Given the description of an element on the screen output the (x, y) to click on. 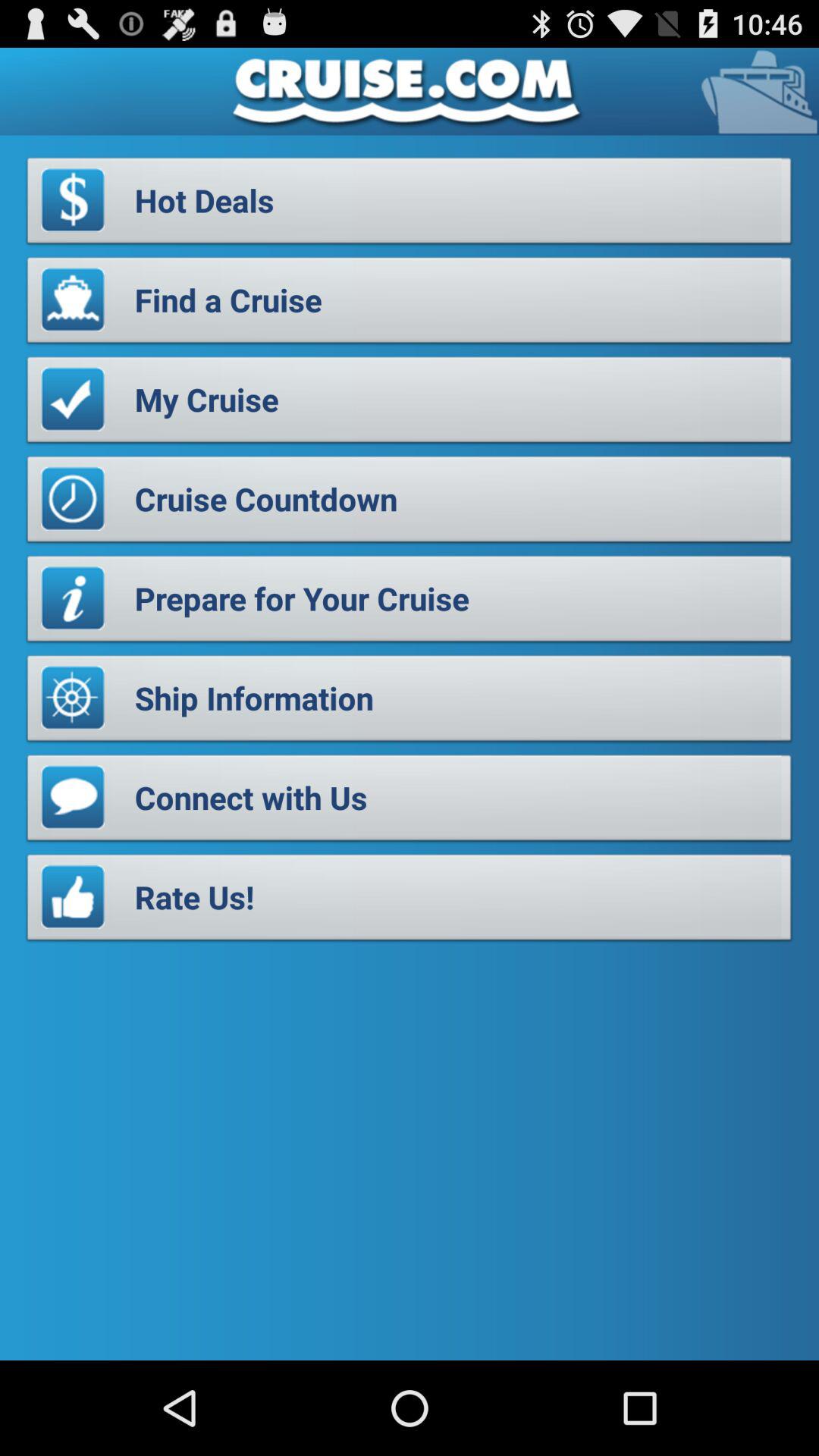
tap my cruise (409, 403)
